Given the description of an element on the screen output the (x, y) to click on. 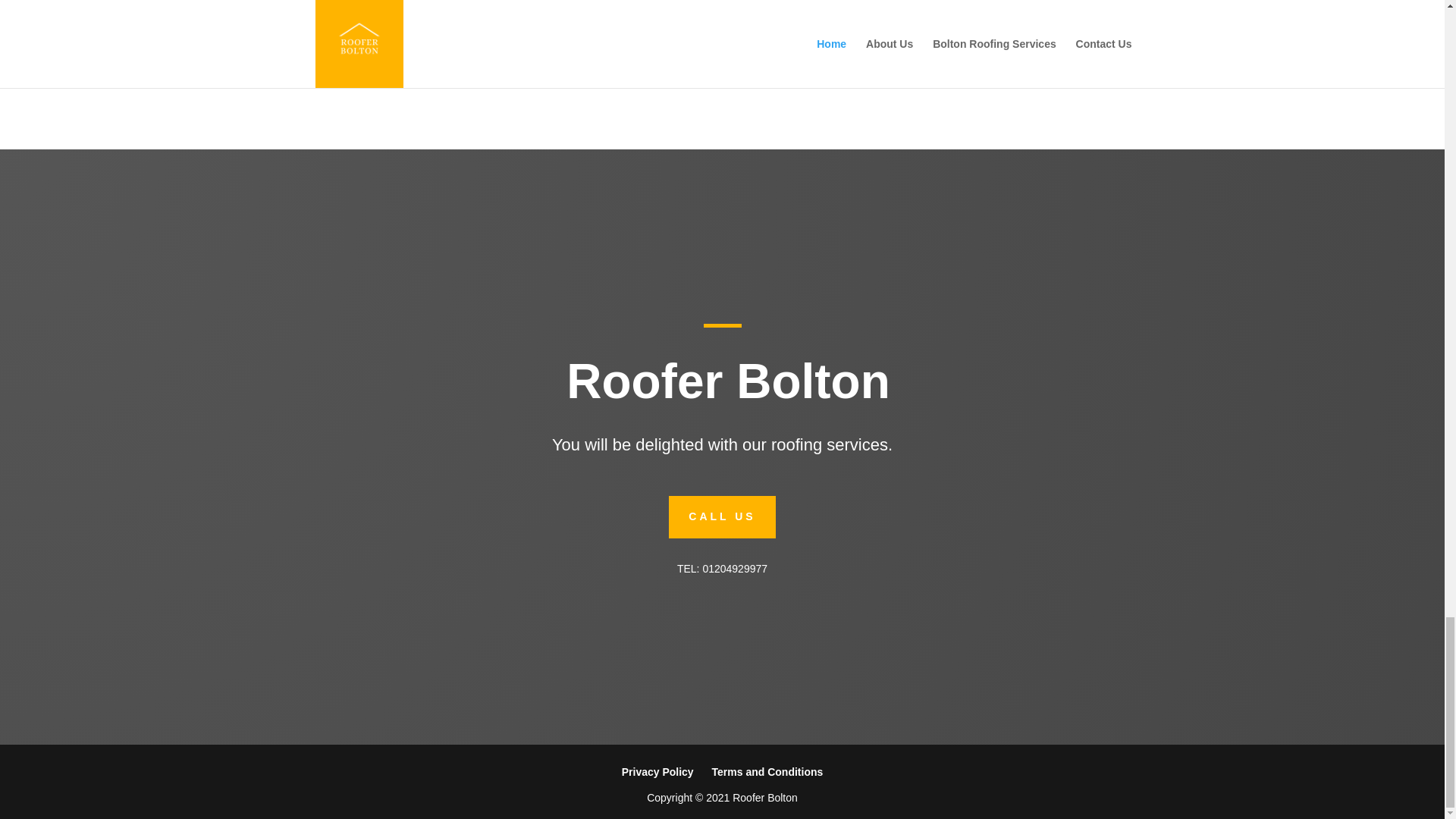
Terms and Conditions (767, 772)
Privacy Policy (657, 772)
CALL US (721, 517)
